Given the description of an element on the screen output the (x, y) to click on. 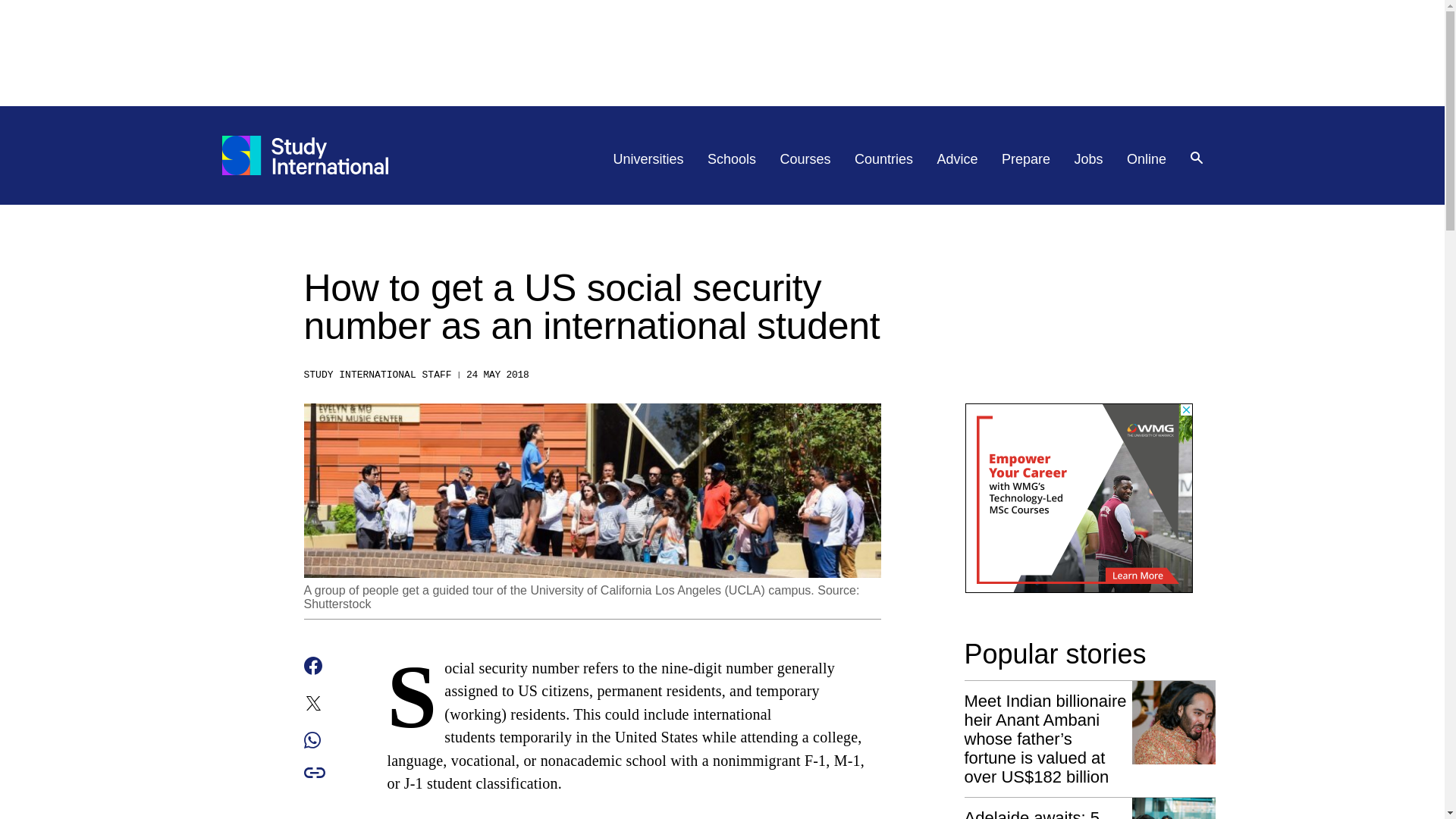
Schools (731, 159)
Advice (957, 159)
Prepare (1025, 159)
Online (1146, 159)
3rd party ad content (1078, 497)
Courses (805, 159)
Universities (648, 159)
3rd party ad content (721, 52)
Countries (883, 159)
STUDY INTERNATIONAL STAFF (376, 374)
Jobs (1088, 159)
